Given the description of an element on the screen output the (x, y) to click on. 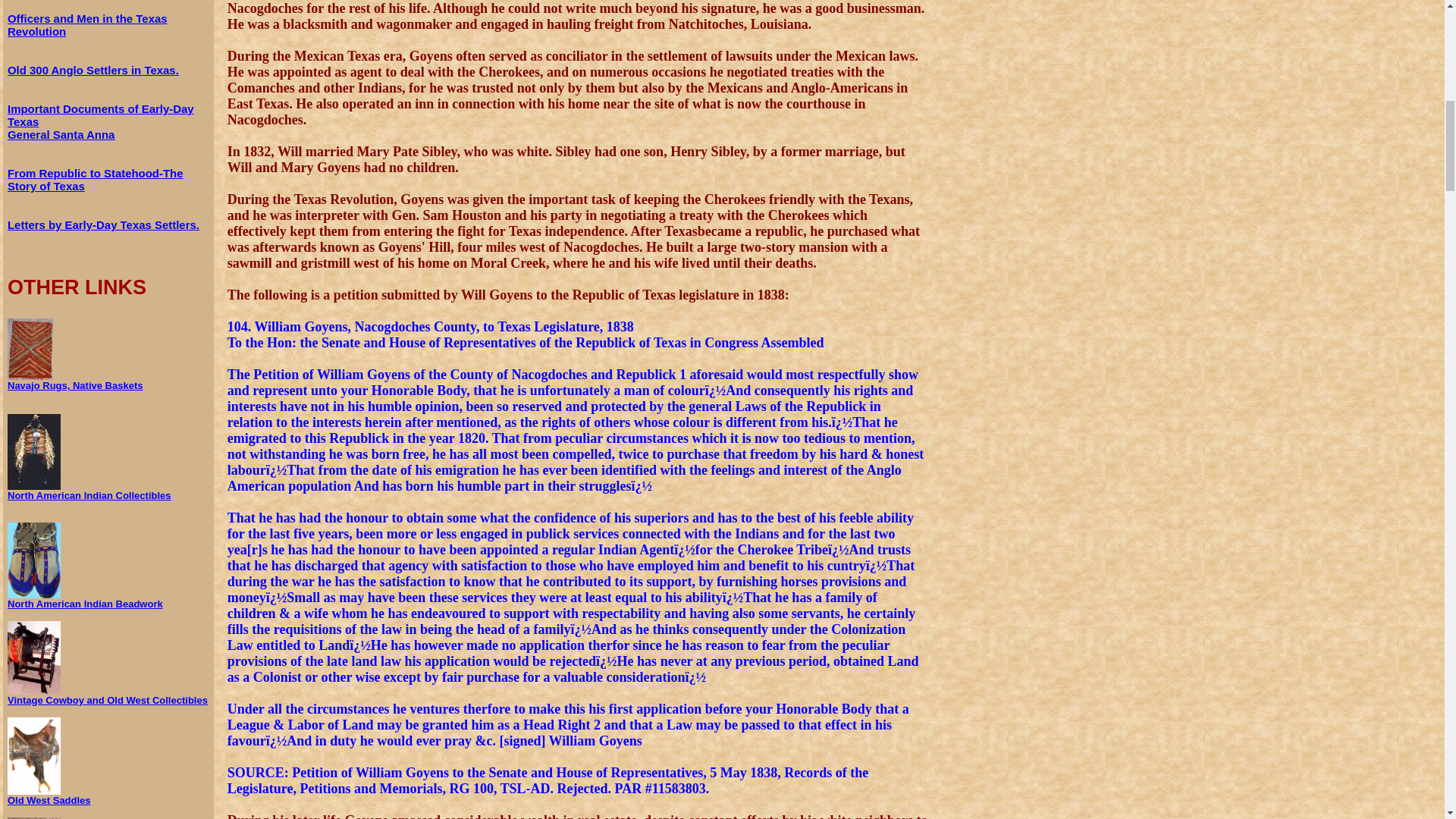
Navajo Rugs, Native Baskets (74, 381)
Officers and Men in the Texas Revolution (87, 24)
From Republic to Statehood-The Story of Texas (95, 179)
Letters by Early-Day Texas Settlers. (103, 224)
North American Indian Collectibles (89, 490)
General Santa Anna (61, 133)
Important Documents of Early-Day Texas (100, 114)
Vintage Cowboy and Old West Collectibles (107, 695)
North American Indian Beadwork (85, 598)
Old 300 Anglo Settlers in Texas. (93, 69)
Old West Saddles (48, 795)
